Given the description of an element on the screen output the (x, y) to click on. 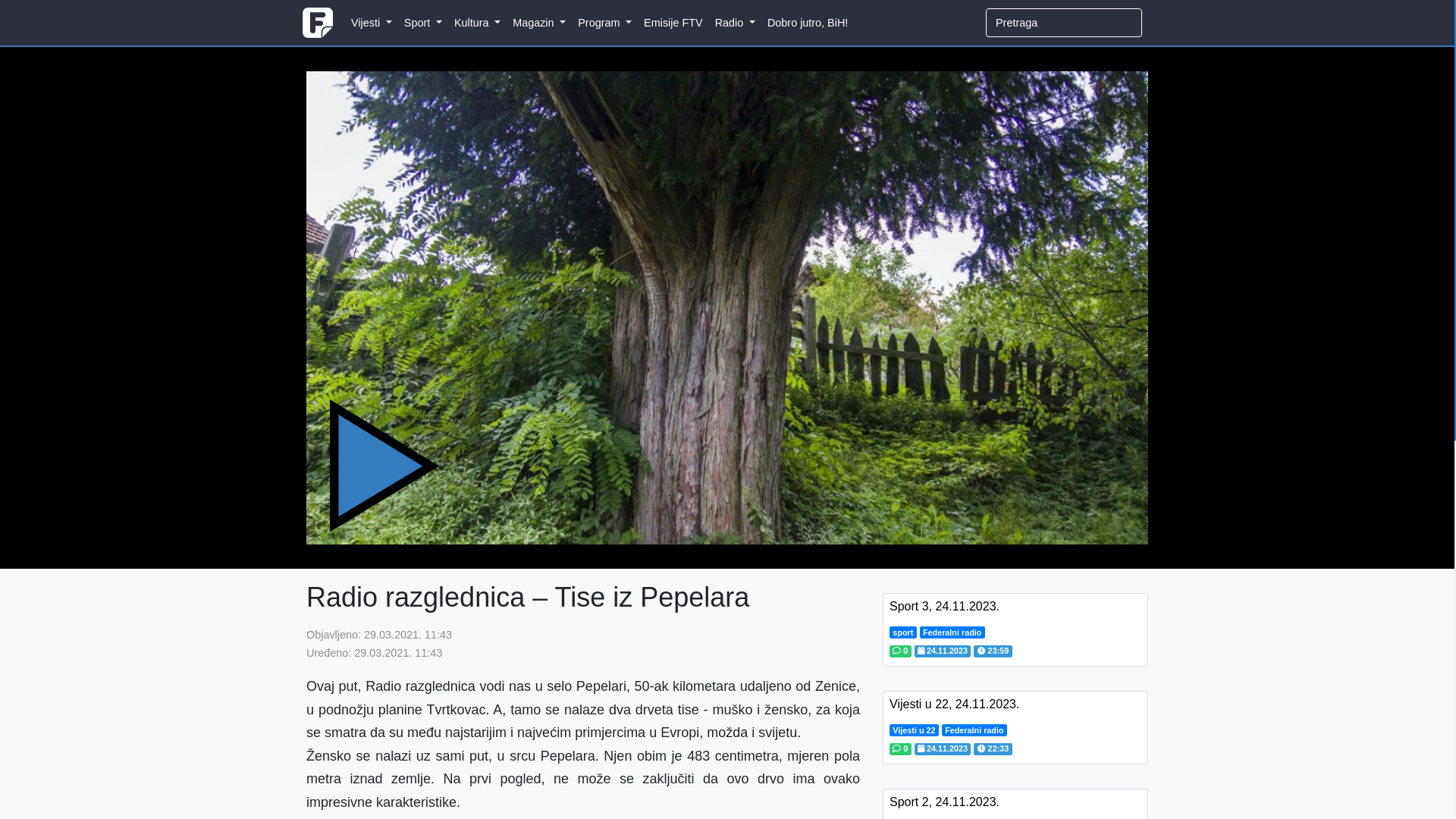
Sport 3, 24.11.2023. Element type: text (944, 605)
Vijesti Element type: text (371, 22)
Program Element type: text (604, 22)
Magazin Element type: text (538, 22)
Sport 2, 24.11.2023. Element type: text (944, 801)
Dobro jutro, BiH! Element type: text (807, 21)
Emisije FTV Element type: text (673, 21)
Sport Element type: text (423, 22)
Vijesti u 22, 24.11.2023. Element type: text (954, 703)
Radio Element type: text (735, 22)
Kultura Element type: text (477, 22)
